Given the description of an element on the screen output the (x, y) to click on. 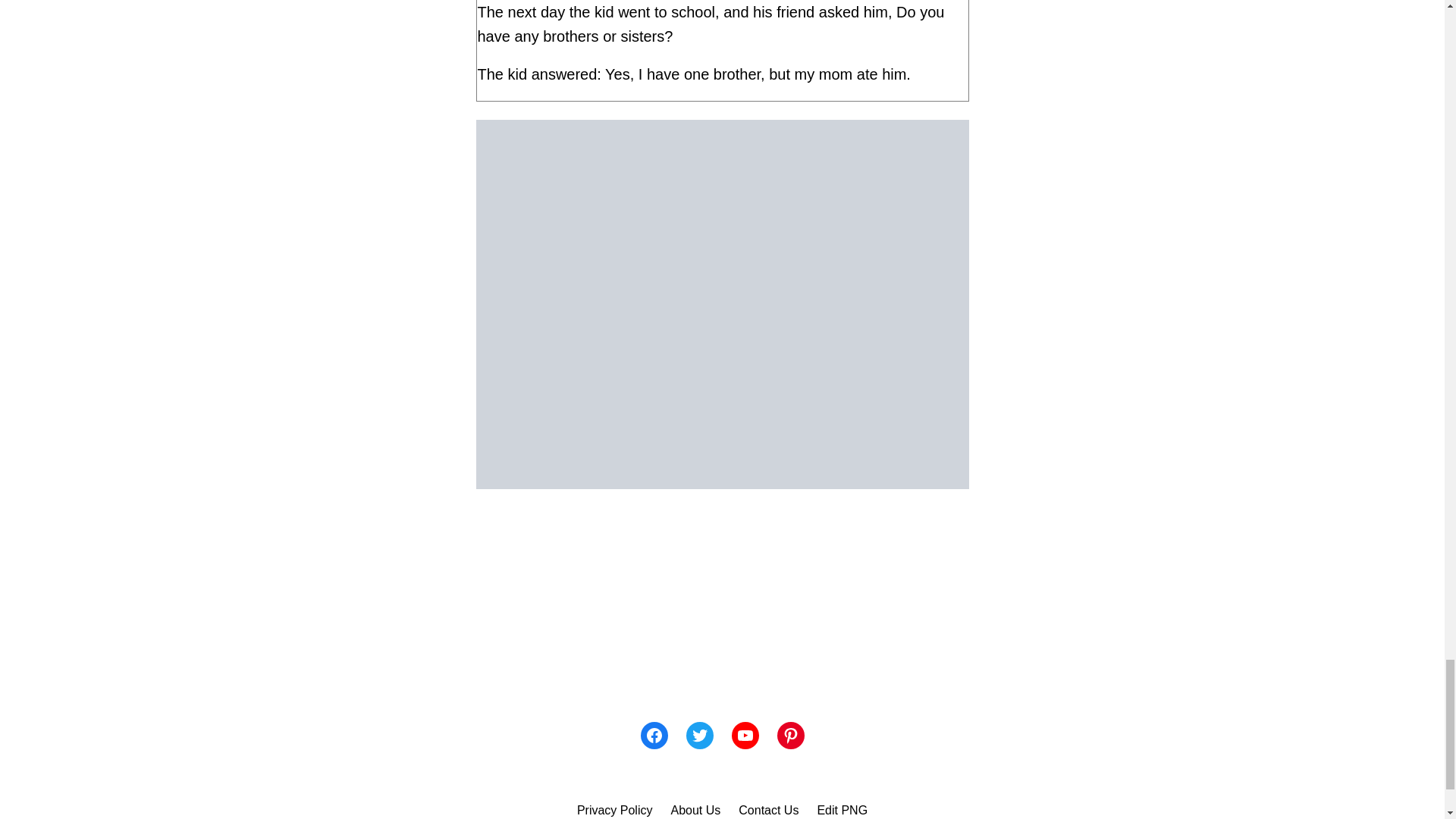
Facebook (653, 735)
About Us (694, 809)
Twitter (699, 735)
Edit PNG (841, 809)
Privacy Policy (614, 809)
YouTube (744, 735)
Pinterest (789, 735)
Contact Us (767, 809)
